Given the description of an element on the screen output the (x, y) to click on. 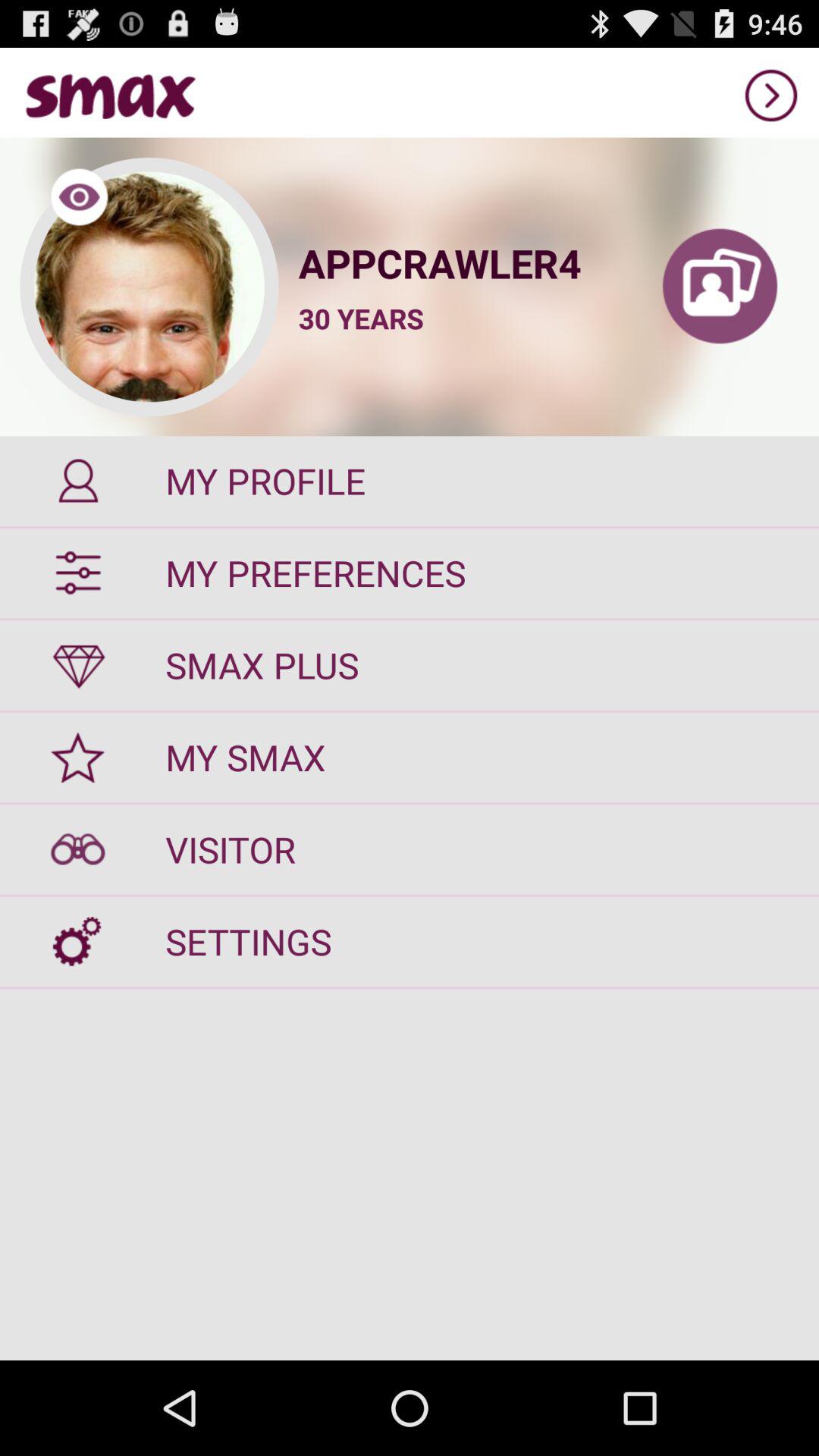
images (719, 286)
